Given the description of an element on the screen output the (x, y) to click on. 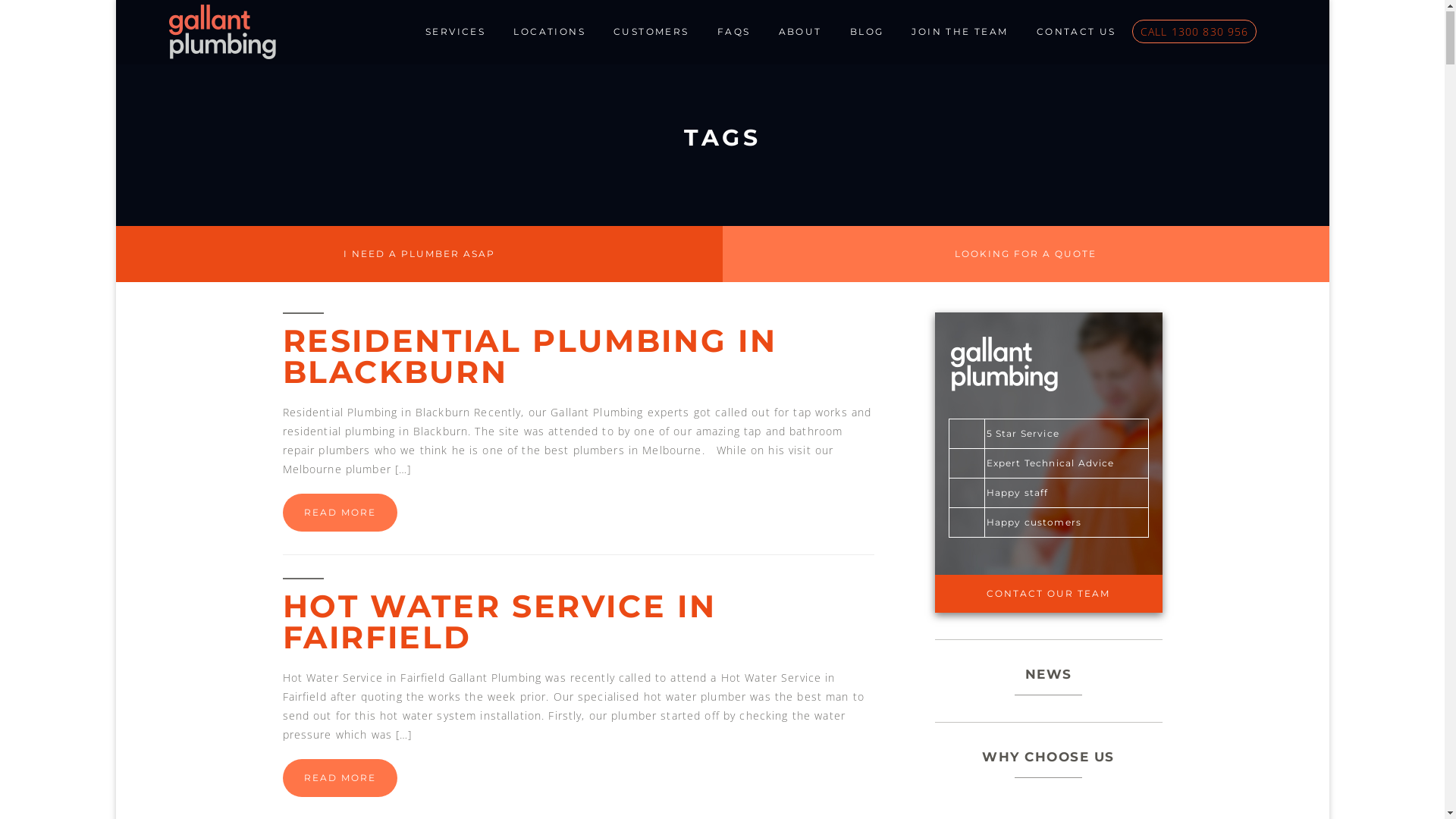
HOT WATER SERVICE IN FAIRFIELD Element type: text (498, 622)
5 Star Service Element type: text (1010, 434)
CONTACT OUR TEAM Element type: text (1047, 595)
BLOG Element type: text (867, 32)
JOIN THE TEAM Element type: text (959, 32)
LOOKING FOR A QUOTE Element type: text (1024, 255)
READ MORE Element type: text (339, 779)
FAQS Element type: text (733, 32)
ABOUT Element type: text (800, 32)
Happy staff Element type: text (1004, 493)
READ MORE Element type: text (339, 514)
Plumber Melbourne Element type: hover (221, 31)
CALL 1300 830 956 Element type: text (1194, 32)
RESIDENTIAL PLUMBING IN BLACKBURN Element type: text (529, 357)
CUSTOMERS Element type: text (651, 32)
LOCATIONS Element type: text (549, 32)
Expert Technical Advice Element type: text (1037, 464)
Happy customers Element type: text (1021, 523)
SERVICES Element type: text (455, 32)
CONTACT US Element type: text (1076, 32)
I NEED A PLUMBER ASAP Element type: text (418, 255)
